Given the description of an element on the screen output the (x, y) to click on. 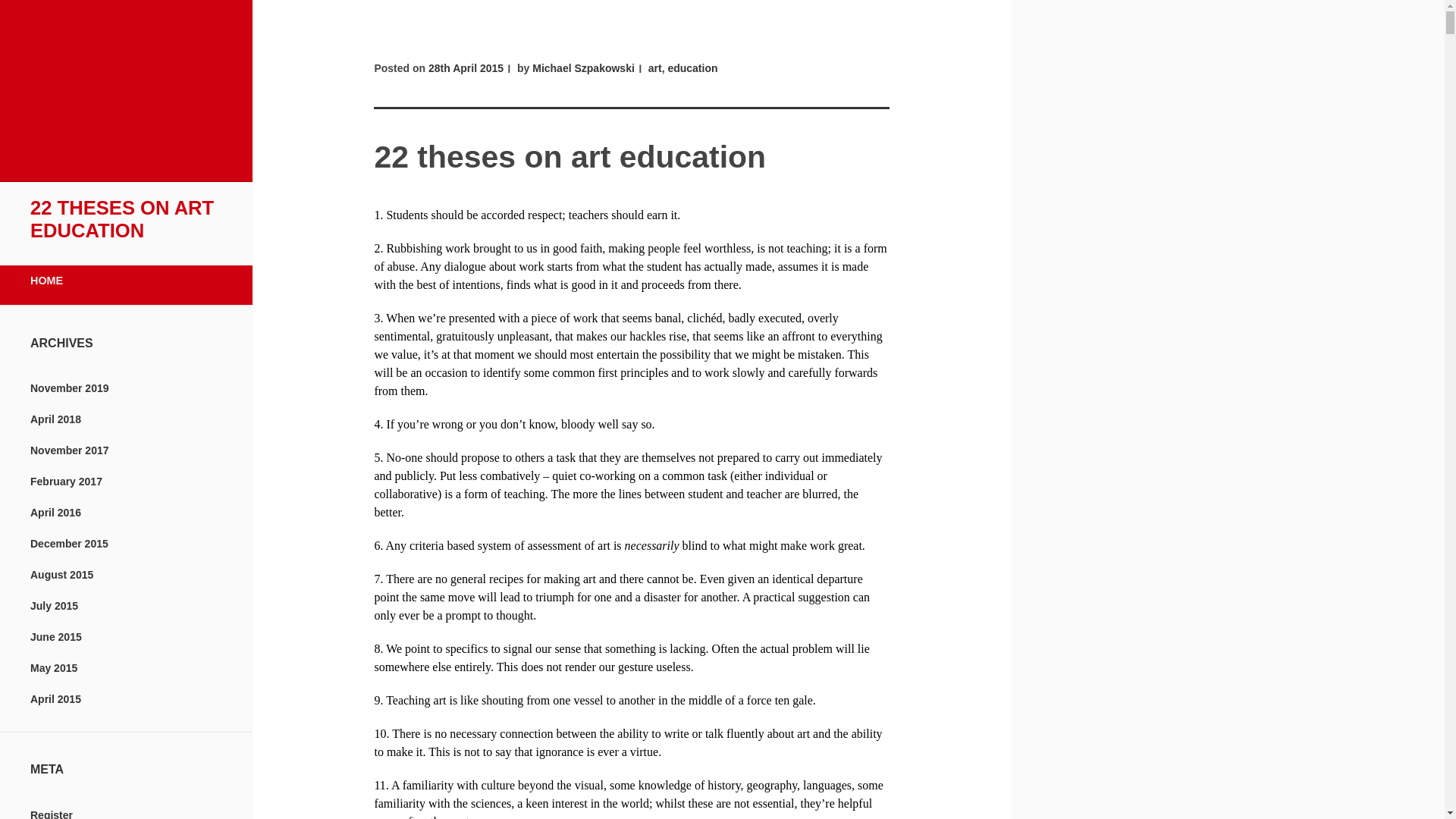
November 2017 (69, 450)
June 2015 (55, 636)
Michael Szpakowski (583, 68)
July 2015 (54, 605)
Register (51, 814)
April 2016 (55, 512)
December 2015 (68, 543)
April 2015 (55, 698)
art (654, 68)
May 2015 (53, 667)
